Given the description of an element on the screen output the (x, y) to click on. 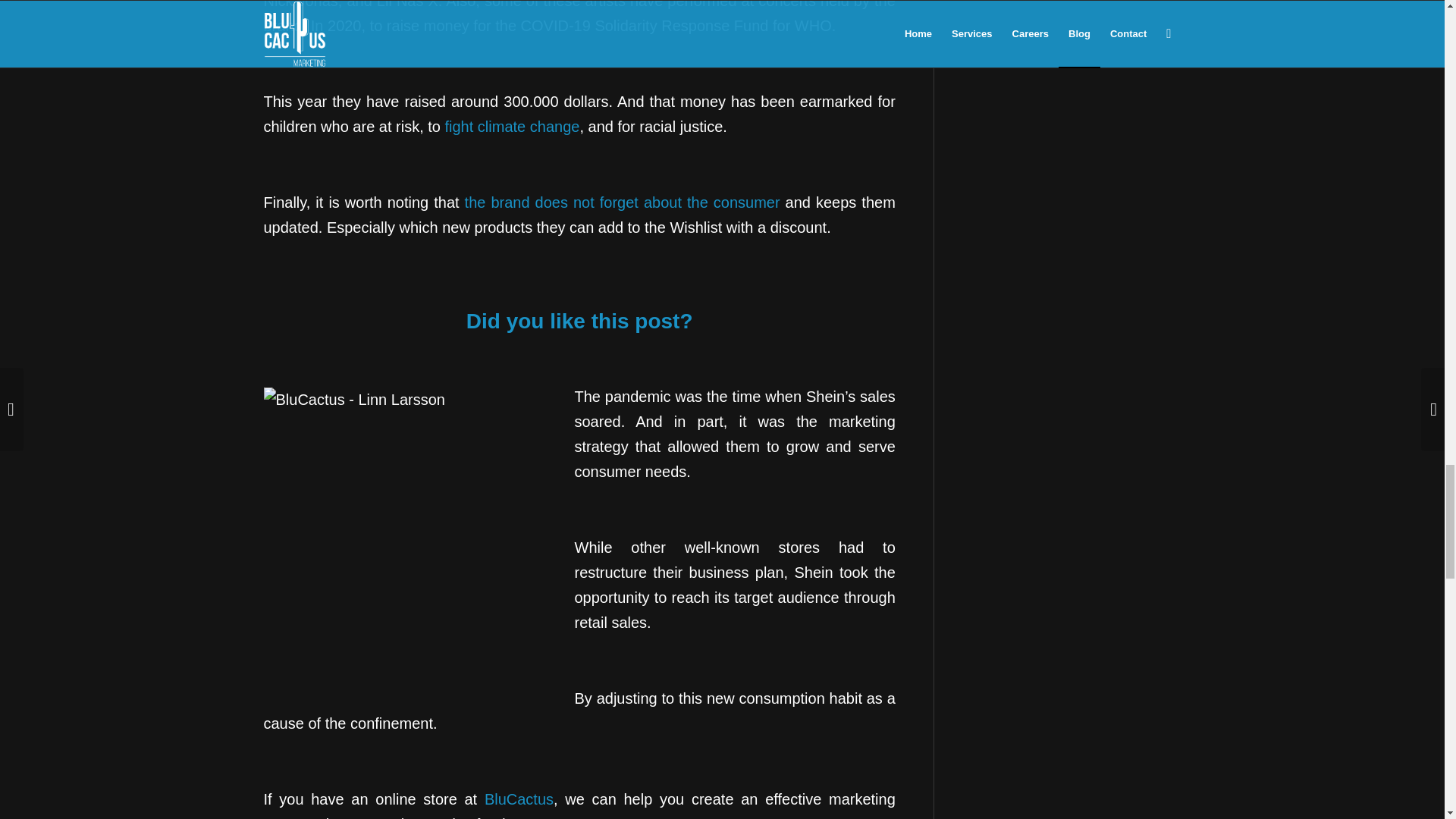
Fashion Marketing Agency Leeds (511, 126)
Get to know the profile of the fashion consumer. (622, 202)
fight climate change (511, 126)
BluCactus (518, 799)
the brand does not forget about the consumer (622, 202)
Fashion Marketing Agency (518, 799)
